Given the description of an element on the screen output the (x, y) to click on. 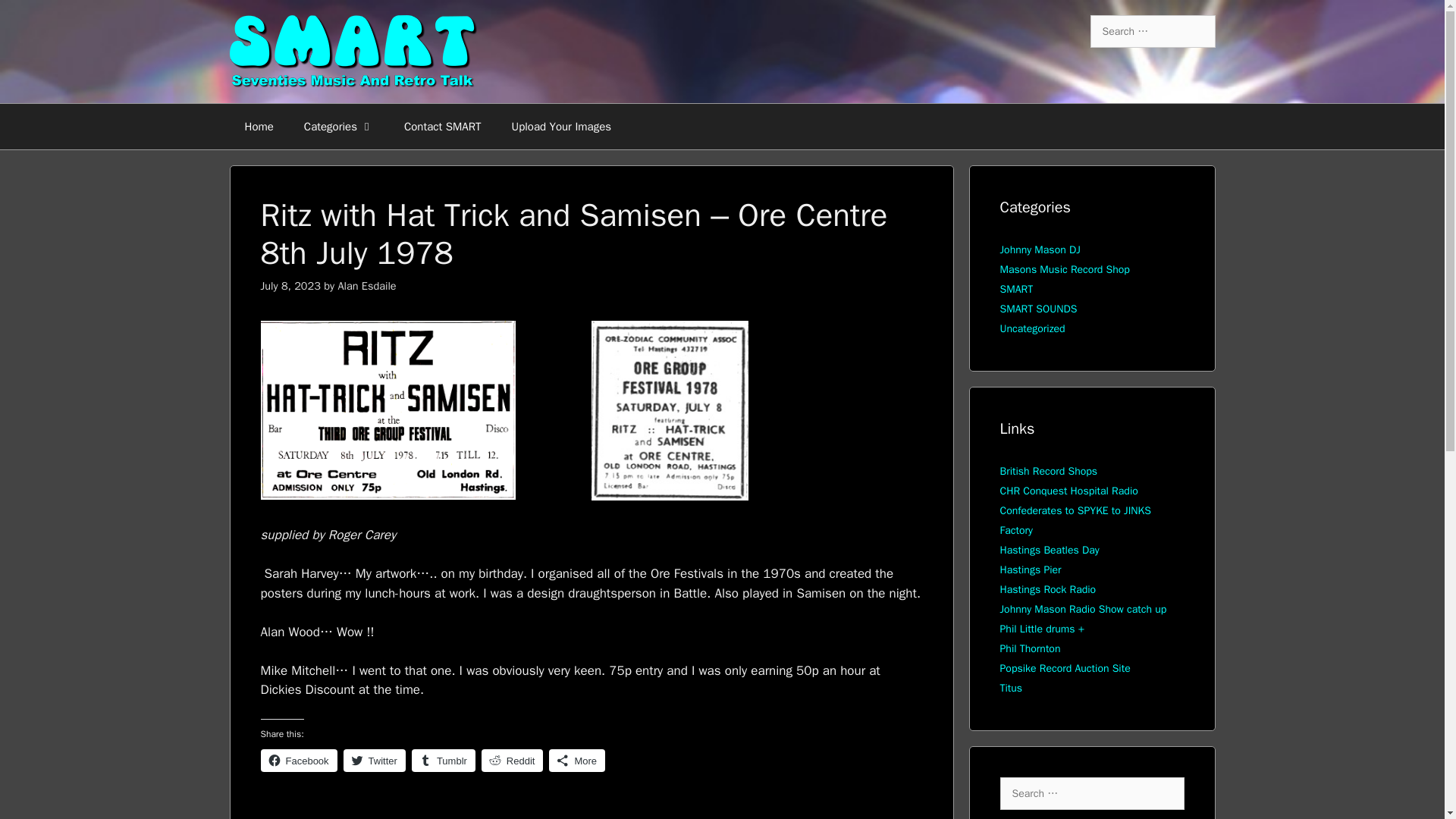
Johnny Mason DJ (1039, 249)
Home (258, 126)
SMART (1015, 288)
SMART (293, 817)
View all posts by Alan Esdaile (366, 285)
Click to share on Twitter (374, 760)
Click to share on Tumblr (444, 760)
Alan Esdaile (366, 285)
Upload Your Images (561, 126)
Tumblr (444, 760)
